Given the description of an element on the screen output the (x, y) to click on. 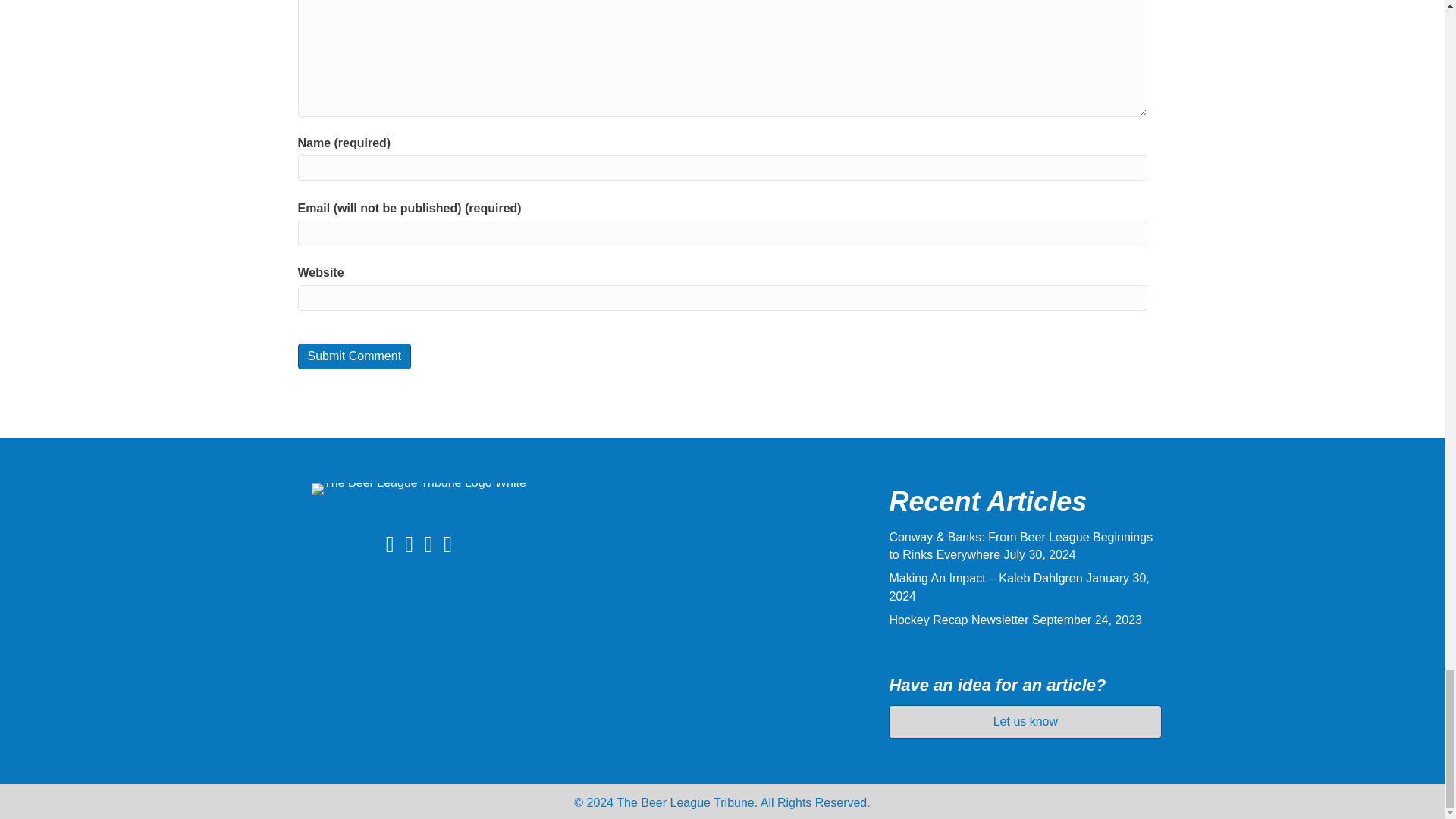
Submit Comment (353, 355)
